Given the description of an element on the screen output the (x, y) to click on. 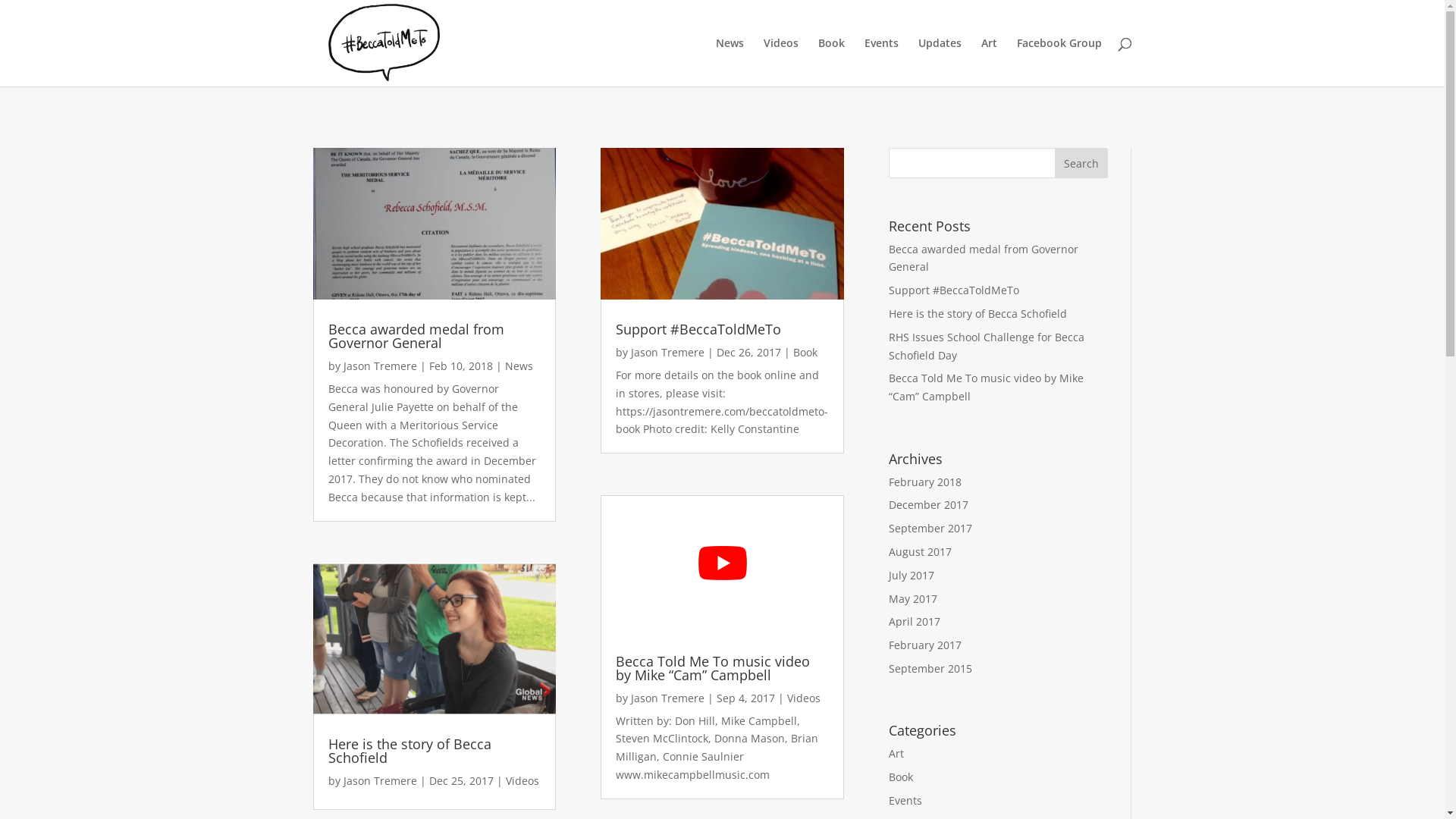
Here is the story of Becca Schofield Element type: text (408, 750)
Book Element type: text (830, 61)
Videos Element type: text (779, 61)
Here is the story of Becca Schofield Element type: text (977, 313)
Support #BeccaToldMeTo Element type: text (698, 329)
Jason Tremere Element type: text (667, 352)
Facebook Group Element type: text (1058, 61)
Jason Tremere Element type: text (379, 780)
February 2017 Element type: text (924, 644)
Events Element type: text (881, 61)
Jason Tremere Element type: text (379, 365)
Search Element type: text (1080, 162)
Videos Element type: text (521, 780)
September 2017 Element type: text (930, 527)
May 2017 Element type: text (912, 598)
News Element type: text (729, 61)
Videos Element type: text (803, 697)
RHS Issues School Challenge for Becca Schofield Day Element type: text (986, 345)
September 2015 Element type: text (930, 668)
Art Element type: text (989, 61)
August 2017 Element type: text (919, 551)
July 2017 Element type: text (911, 574)
News Element type: text (519, 365)
Becca awarded medal from Governor General Element type: text (415, 335)
Book Element type: text (900, 776)
Events Element type: text (905, 800)
Jason Tremere Element type: text (667, 697)
April 2017 Element type: text (914, 621)
February 2018 Element type: text (924, 481)
Book Element type: text (805, 352)
Becca awarded medal from Governor General Element type: text (983, 257)
Art Element type: text (895, 753)
Updates Element type: text (938, 61)
December 2017 Element type: text (928, 504)
Support #BeccaToldMeTo Element type: text (953, 289)
